Given the description of an element on the screen output the (x, y) to click on. 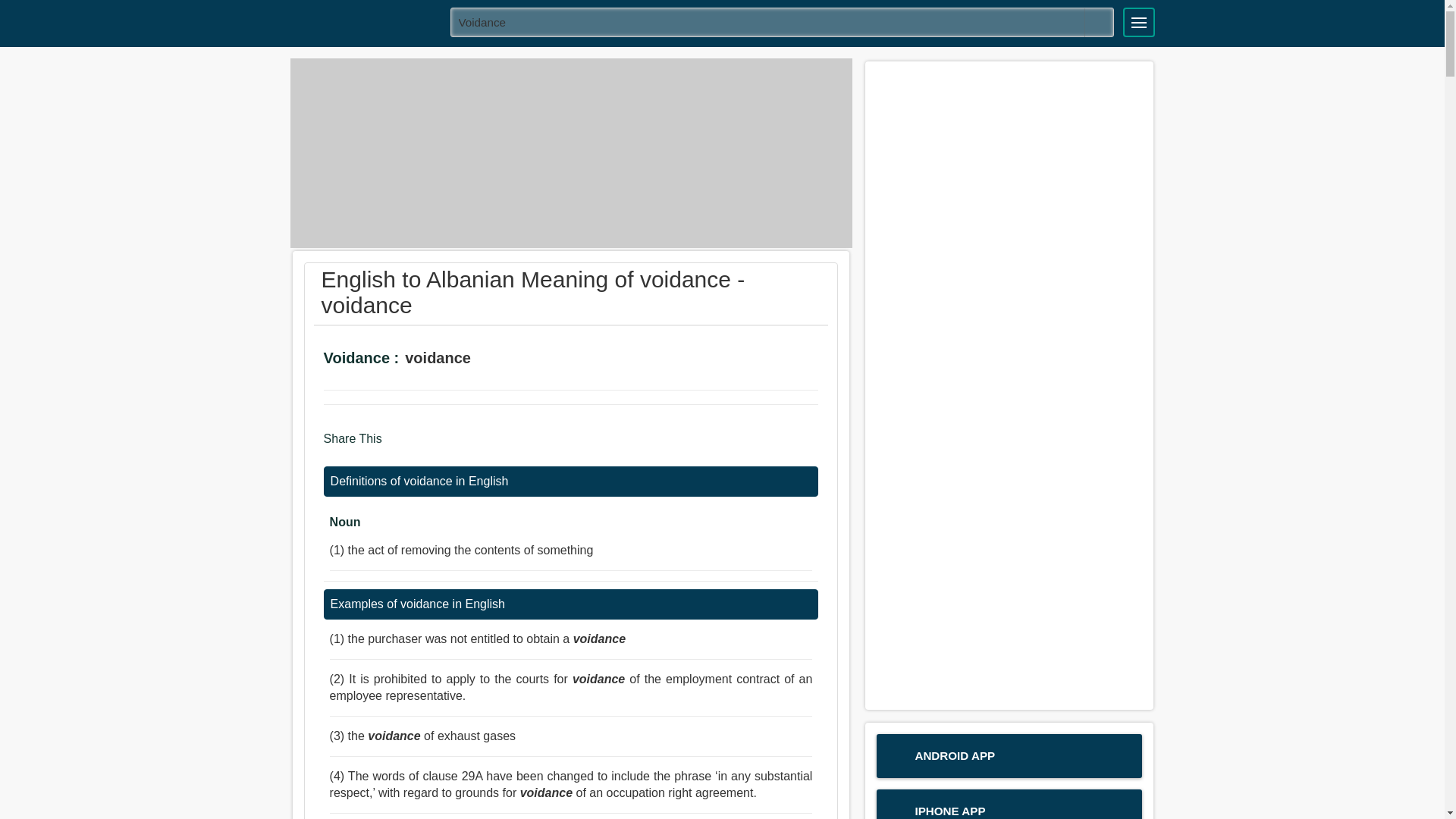
Add To Favorites (537, 360)
Twitter (428, 445)
voidance (782, 21)
Search (1098, 22)
Say The Word (496, 360)
Linkedin (458, 445)
More Share (485, 445)
ALBANIAN (365, 20)
Facebook (398, 445)
